Given the description of an element on the screen output the (x, y) to click on. 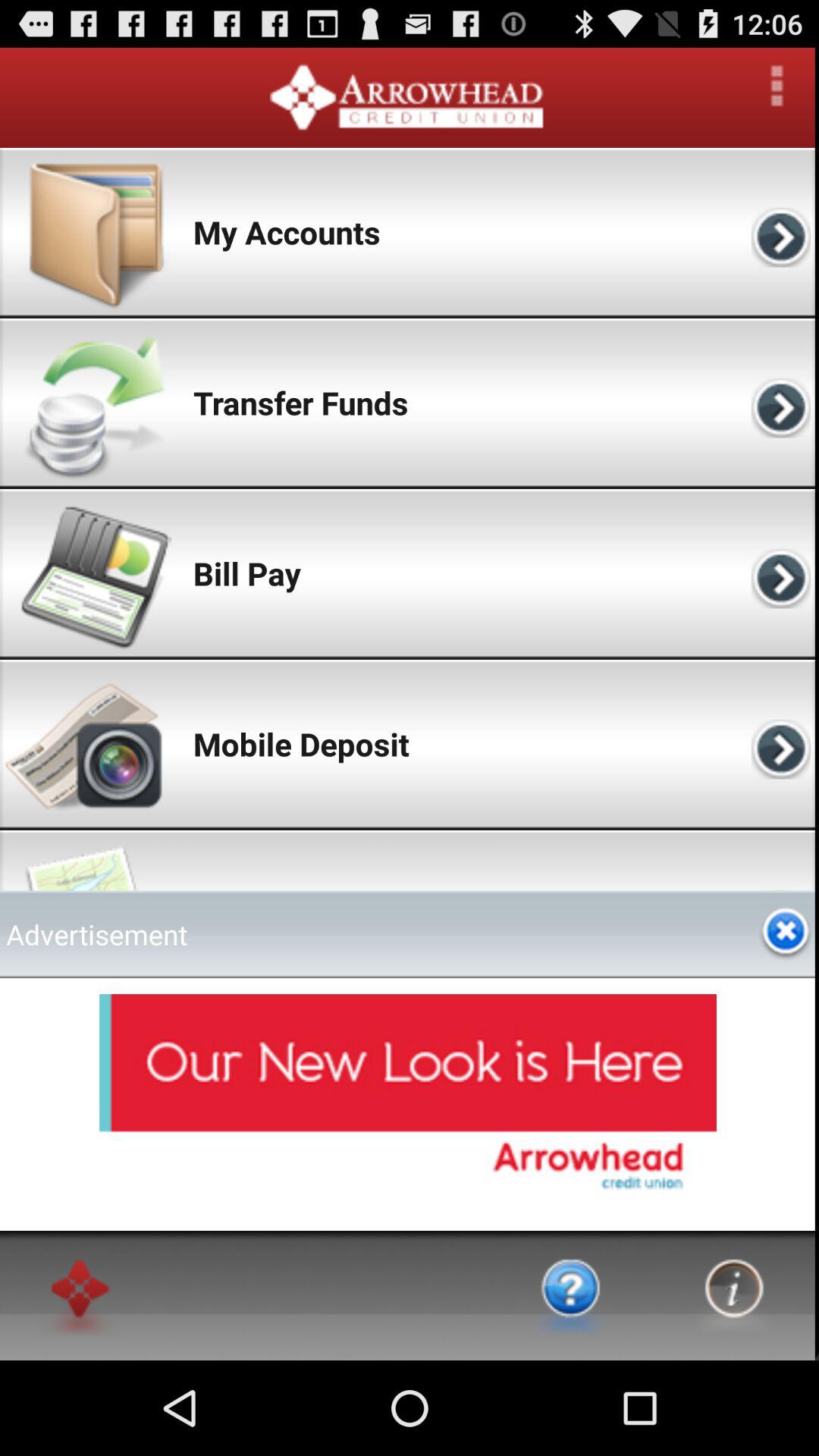
close the article (785, 933)
